Given the description of an element on the screen output the (x, y) to click on. 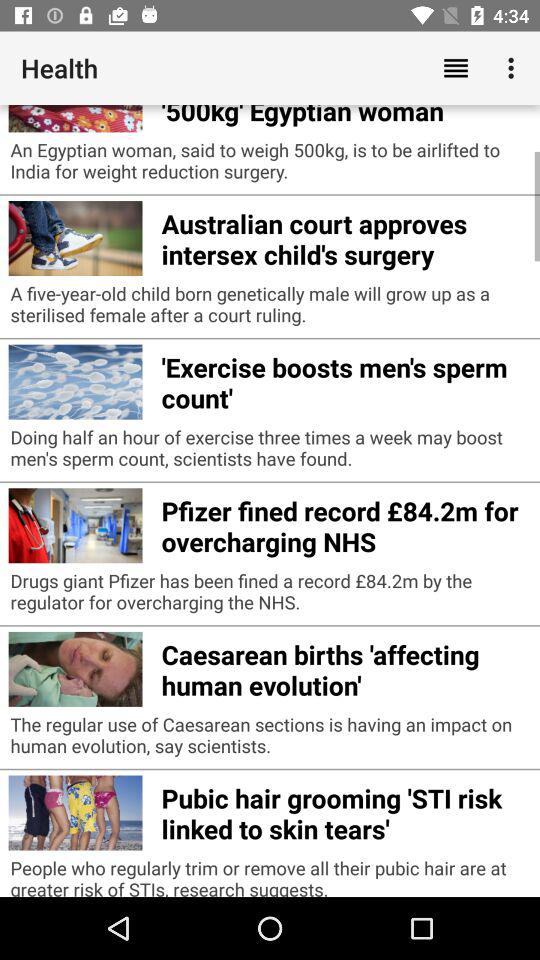
scroll to people who regularly app (270, 875)
